Given the description of an element on the screen output the (x, y) to click on. 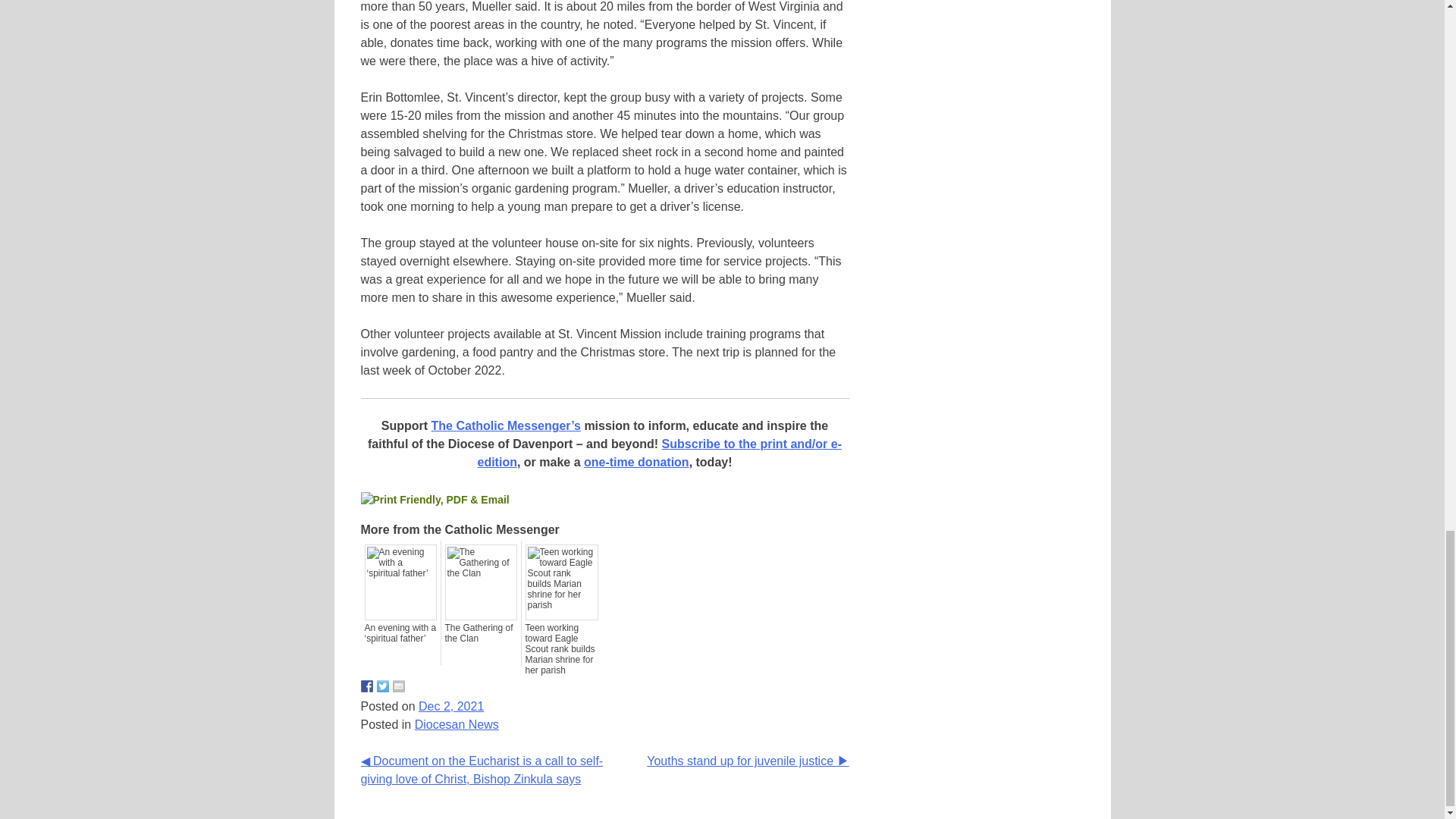
Share on Twitter (381, 686)
Share on Facebook (366, 686)
Share by email (398, 686)
